Given the description of an element on the screen output the (x, y) to click on. 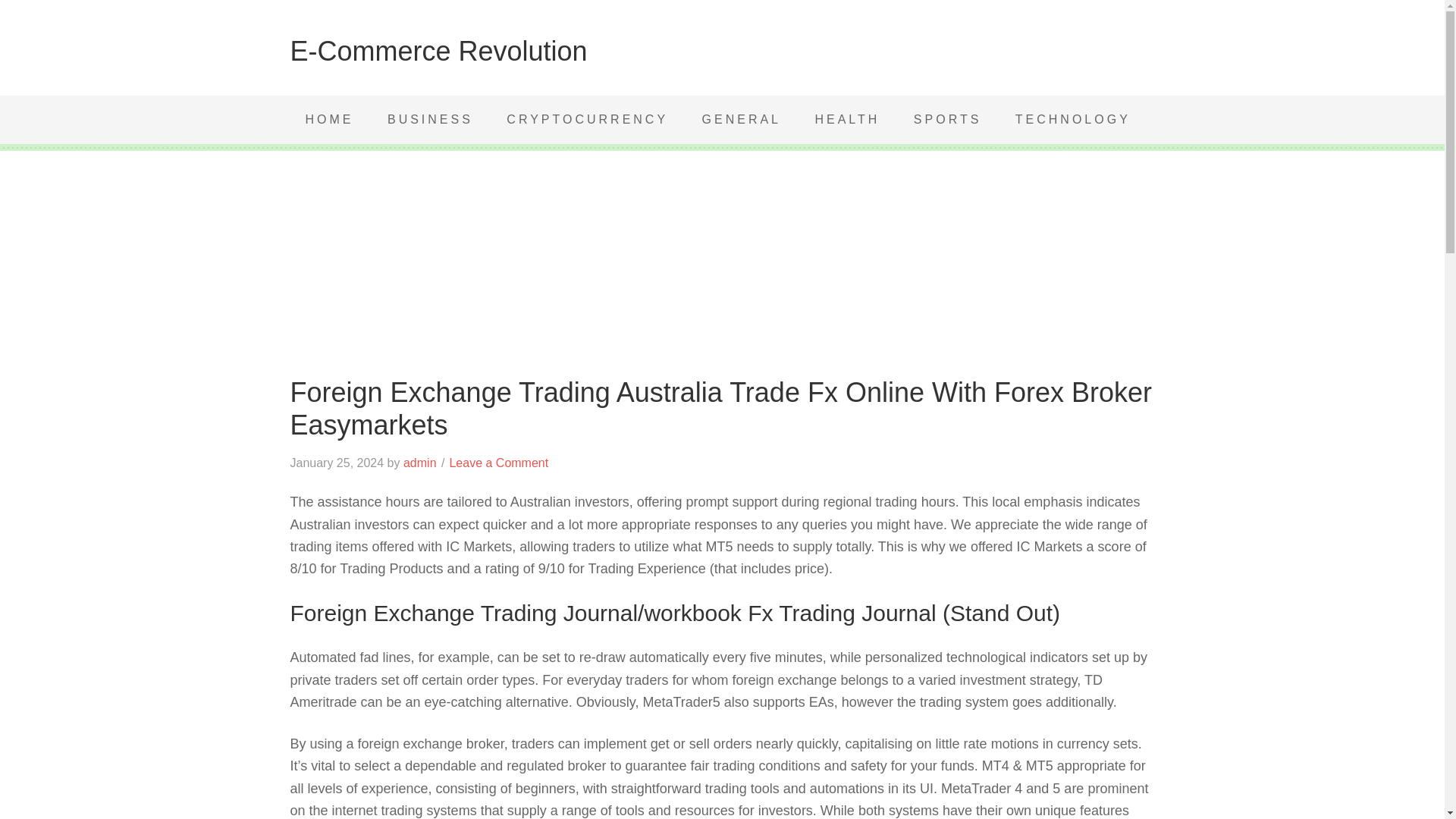
CRYPTOCURRENCY (587, 119)
E-Commerce Revolution (437, 51)
HOME (328, 119)
SPORTS (947, 119)
GENERAL (741, 119)
Leave a Comment (498, 462)
BUSINESS (429, 119)
HEALTH (847, 119)
TECHNOLOGY (1072, 119)
admin (419, 462)
